Given the description of an element on the screen output the (x, y) to click on. 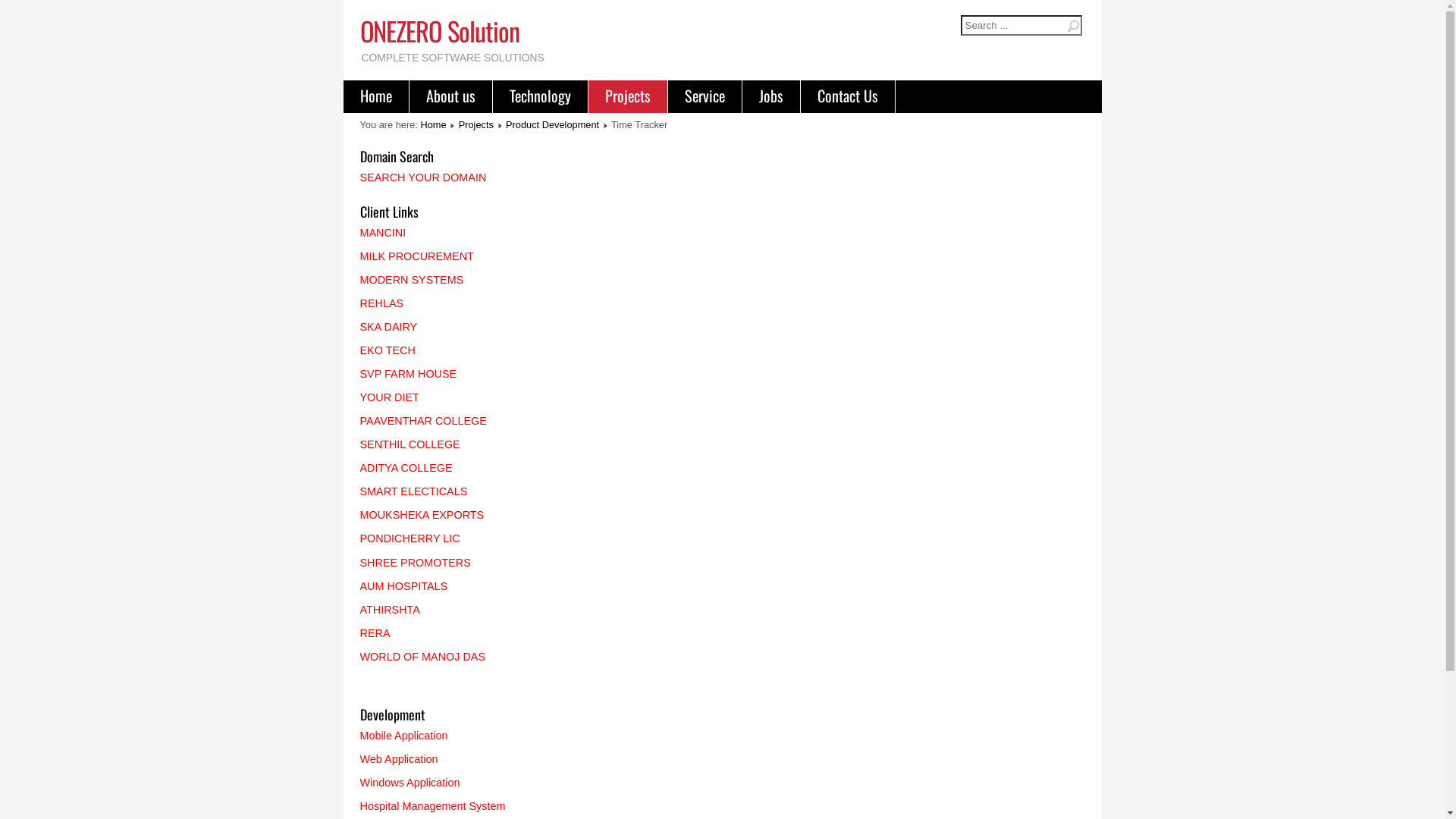
MILK PROCUREMENT Element type: text (416, 256)
RERA Element type: text (374, 633)
PONDICHERRY LIC Element type: text (409, 538)
ONEZERO Solution Element type: text (438, 30)
REHLAS Element type: text (381, 303)
About us Element type: text (450, 96)
Home Element type: text (374, 96)
ATHIRSHTA Element type: text (389, 609)
Projects Element type: text (475, 124)
MANCINI Element type: text (382, 232)
MOUKSHEKA EXPORTS Element type: text (421, 514)
Service Element type: text (703, 96)
YOUR DIET Element type: text (388, 397)
WORLD OF MANOJ DAS Element type: text (422, 656)
SEARCH YOUR DOMAIN Element type: text (422, 177)
EKO TECH Element type: text (386, 350)
Technology Element type: text (539, 96)
Projects Element type: text (627, 96)
SENTHIL COLLEGE Element type: text (409, 444)
MODERN SYSTEMS Element type: text (411, 279)
SVP FARM HOUSE Element type: text (407, 373)
PAAVENTHAR COLLEGE Element type: text (422, 420)
ADITYA COLLEGE Element type: text (405, 467)
SMART ELECTICALS Element type: text (413, 491)
AUM HOSPITALS Element type: text (403, 586)
Jobs Element type: text (770, 96)
SKA DAIRY Element type: text (388, 326)
Product Development Element type: text (552, 124)
Home Element type: text (432, 124)
Contact Us Element type: text (847, 96)
SHREE PROMOTERS Element type: text (414, 562)
